Given the description of an element on the screen output the (x, y) to click on. 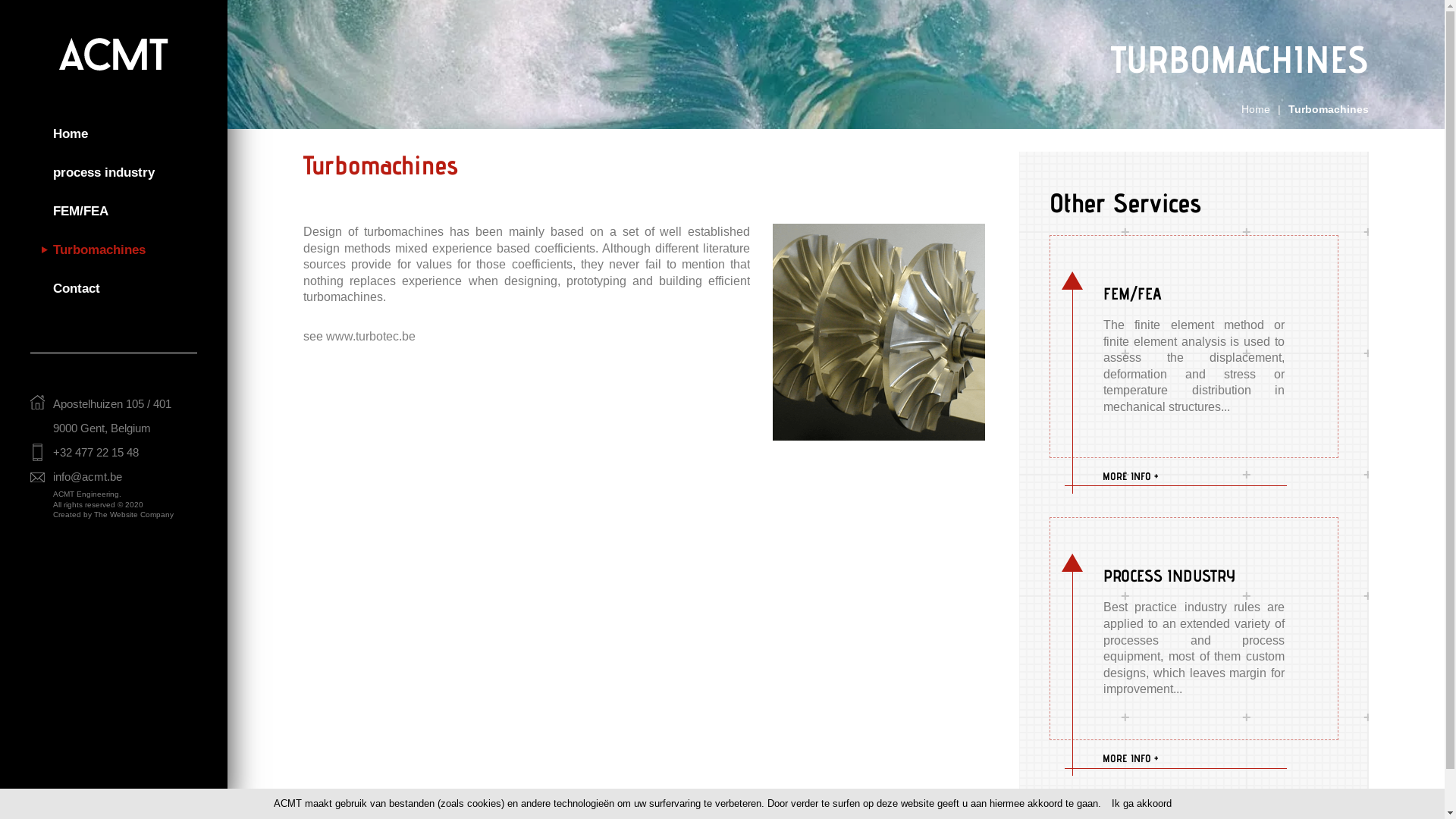
process industry Element type: text (103, 172)
The Website Company Element type: text (133, 514)
MORE INFO + Element type: text (1193, 476)
Contact Element type: text (76, 288)
FEM/FEA Element type: text (80, 210)
Home Element type: text (1255, 109)
Ik ga akkoord Element type: text (1141, 803)
Turbomachines Element type: text (99, 249)
Home Element type: text (70, 133)
www.turbotec.be Element type: text (370, 335)
MORE INFO + Element type: text (1193, 758)
info@acmt.be Element type: text (87, 476)
